Given the description of an element on the screen output the (x, y) to click on. 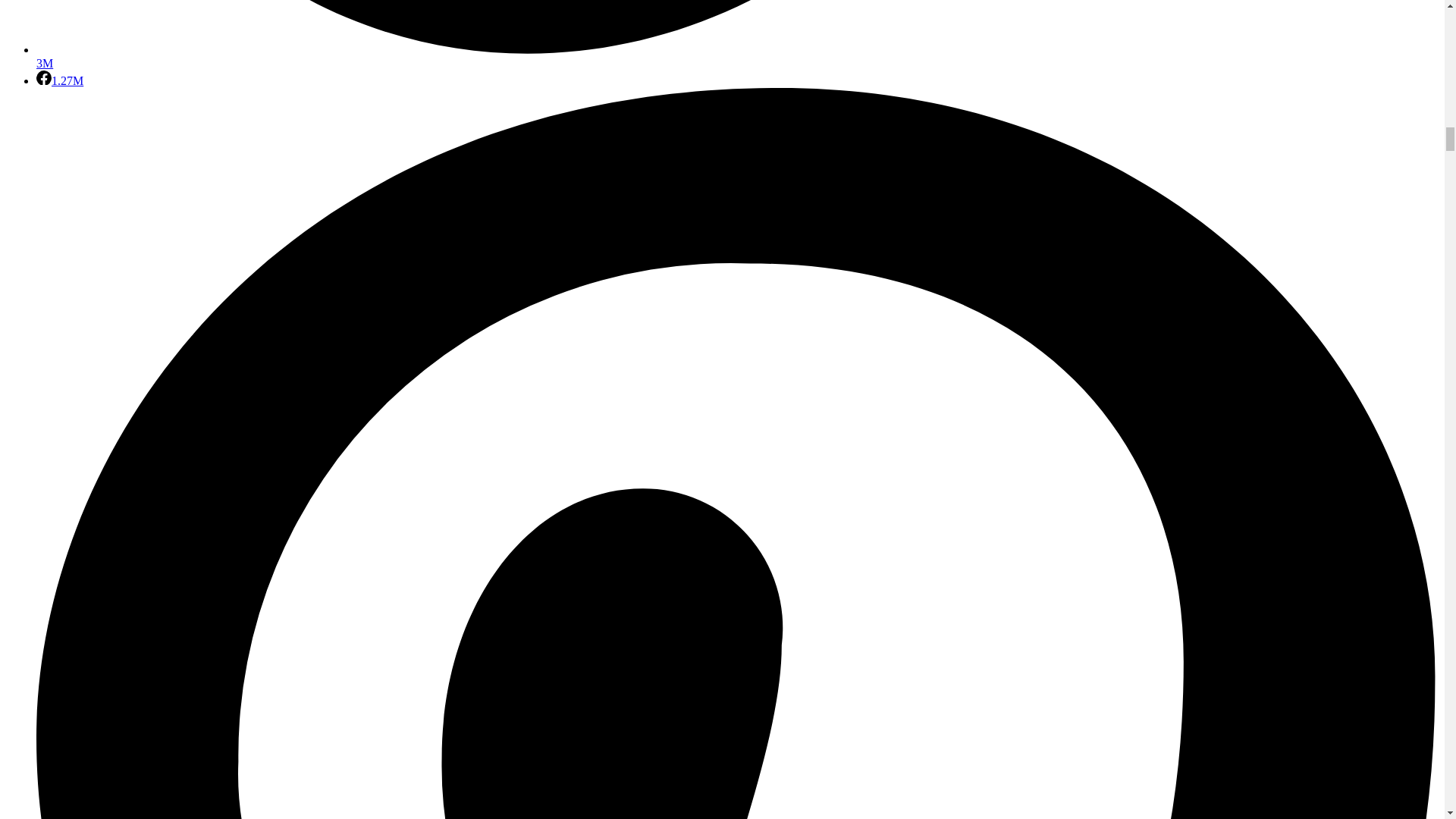
1.27M (59, 80)
